Given the description of an element on the screen output the (x, y) to click on. 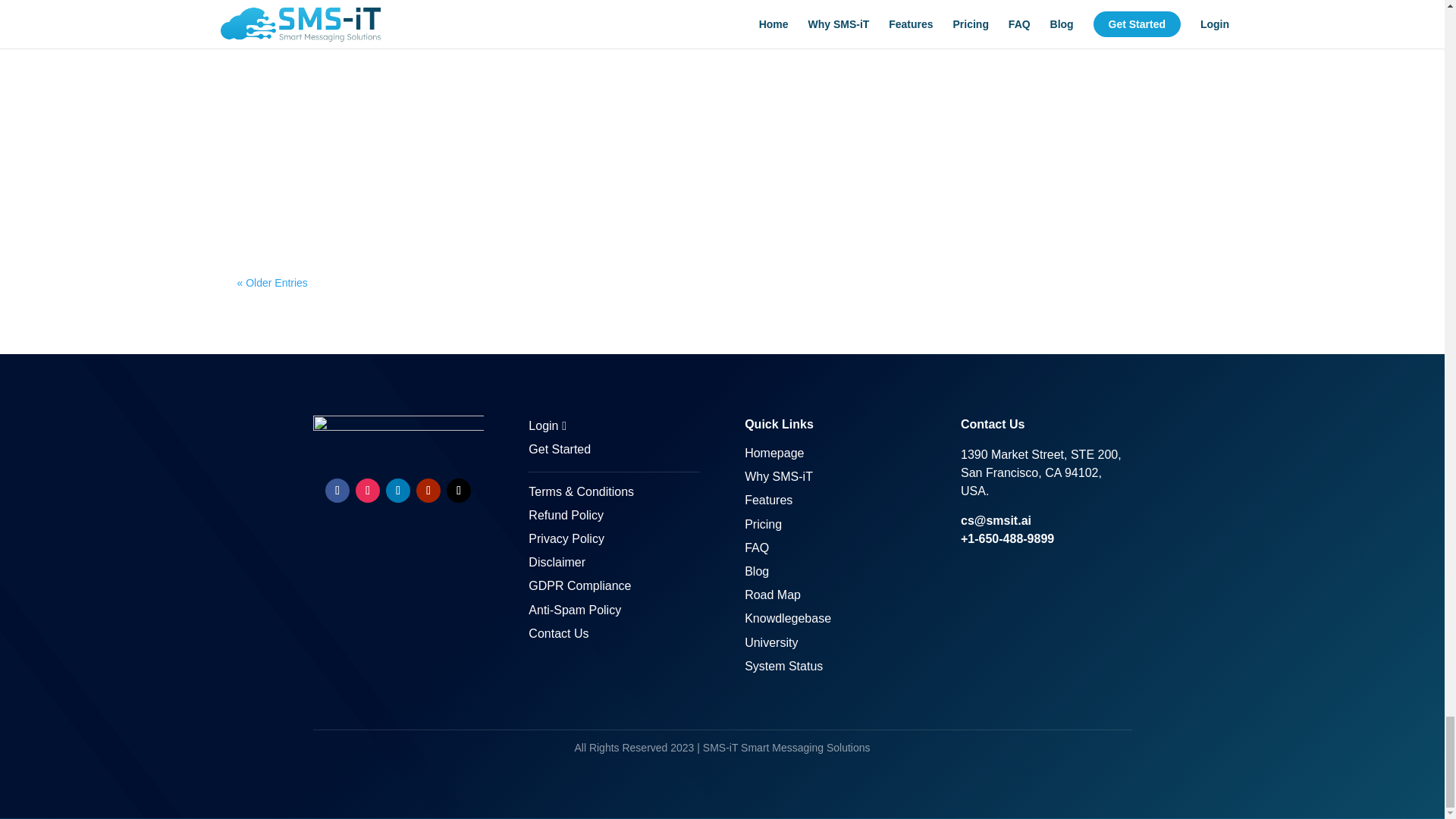
Follow on Instagram (367, 490)
Follow on LinkedIn (397, 490)
Follow on Youtube (428, 490)
logo-sm (398, 435)
Follow on Facebook (336, 490)
